Given the description of an element on the screen output the (x, y) to click on. 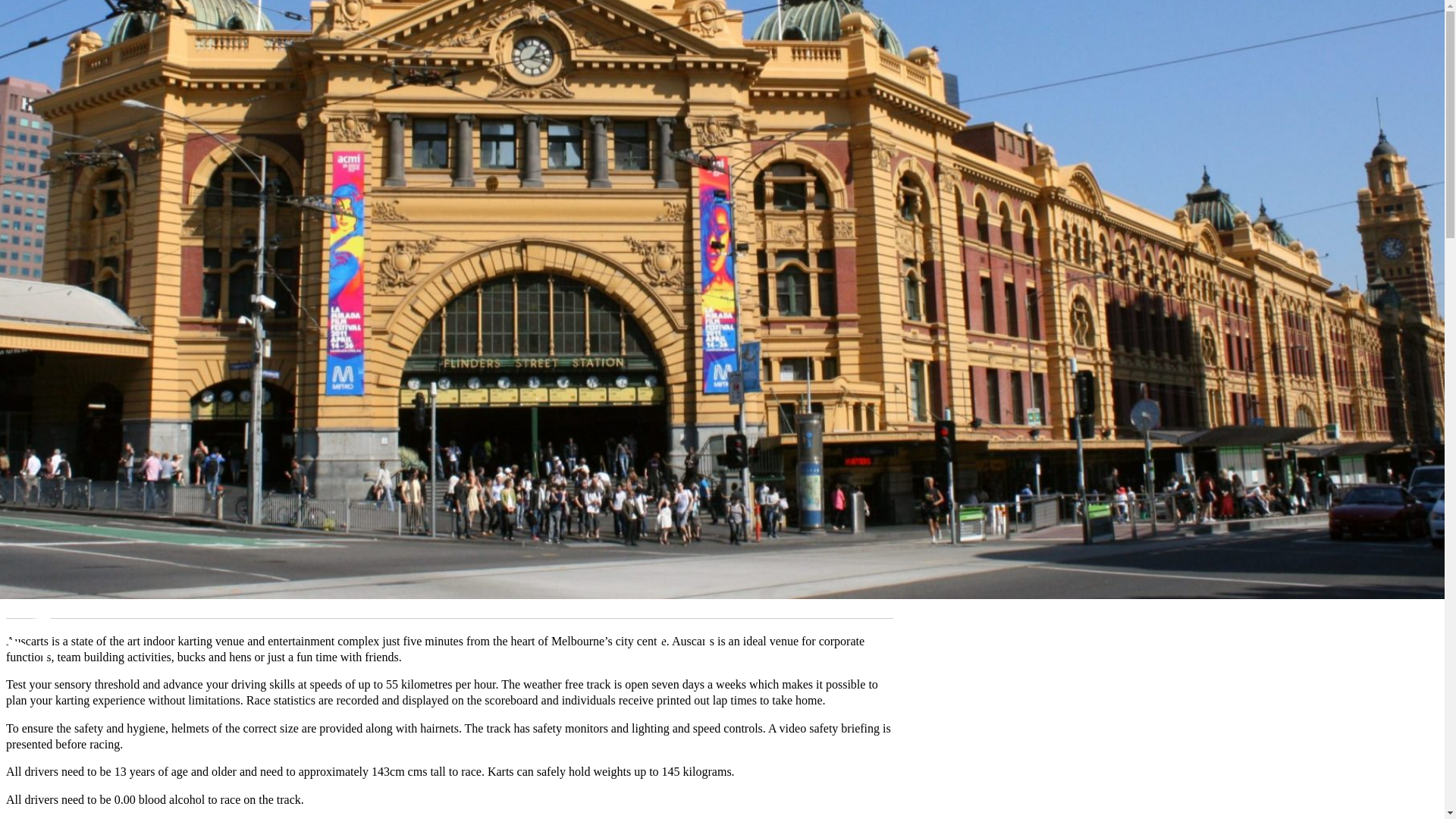
Must-Have Apps (107, 92)
Ferries (83, 174)
Home (50, 38)
attraction (179, 585)
Regional Trains (105, 133)
leisure activities (245, 585)
Top Ten (55, 256)
Trams (81, 78)
Victoria (96, 585)
Limousines (94, 228)
